Given the description of an element on the screen output the (x, y) to click on. 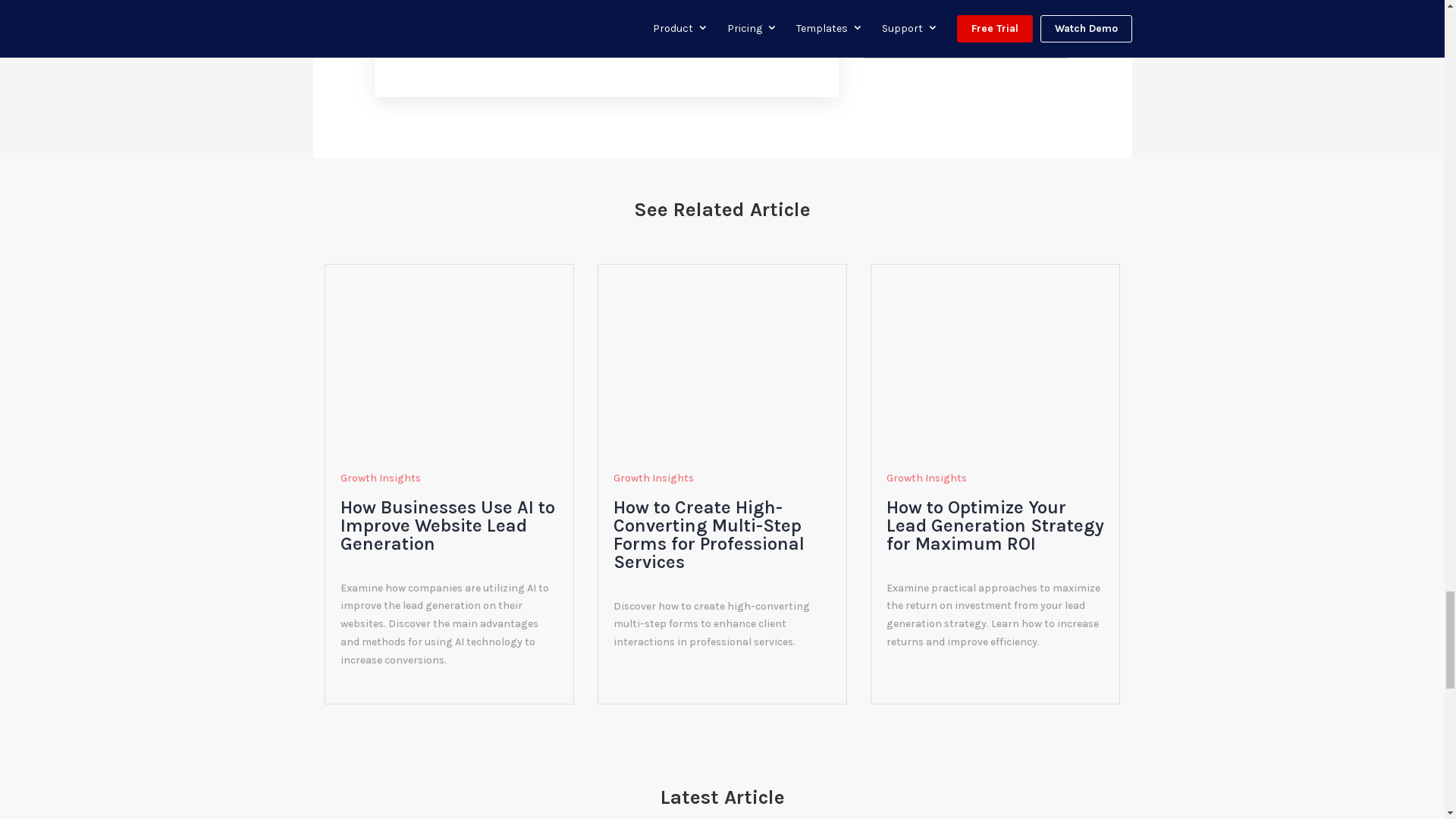
How-to-Create-A-Multi-Step-Form-With-Formidable-Forms.png (720, 359)
pexels-photo-4078342.png (448, 359)
pexels-photo-5833243-1.png (994, 359)
